Given the description of an element on the screen output the (x, y) to click on. 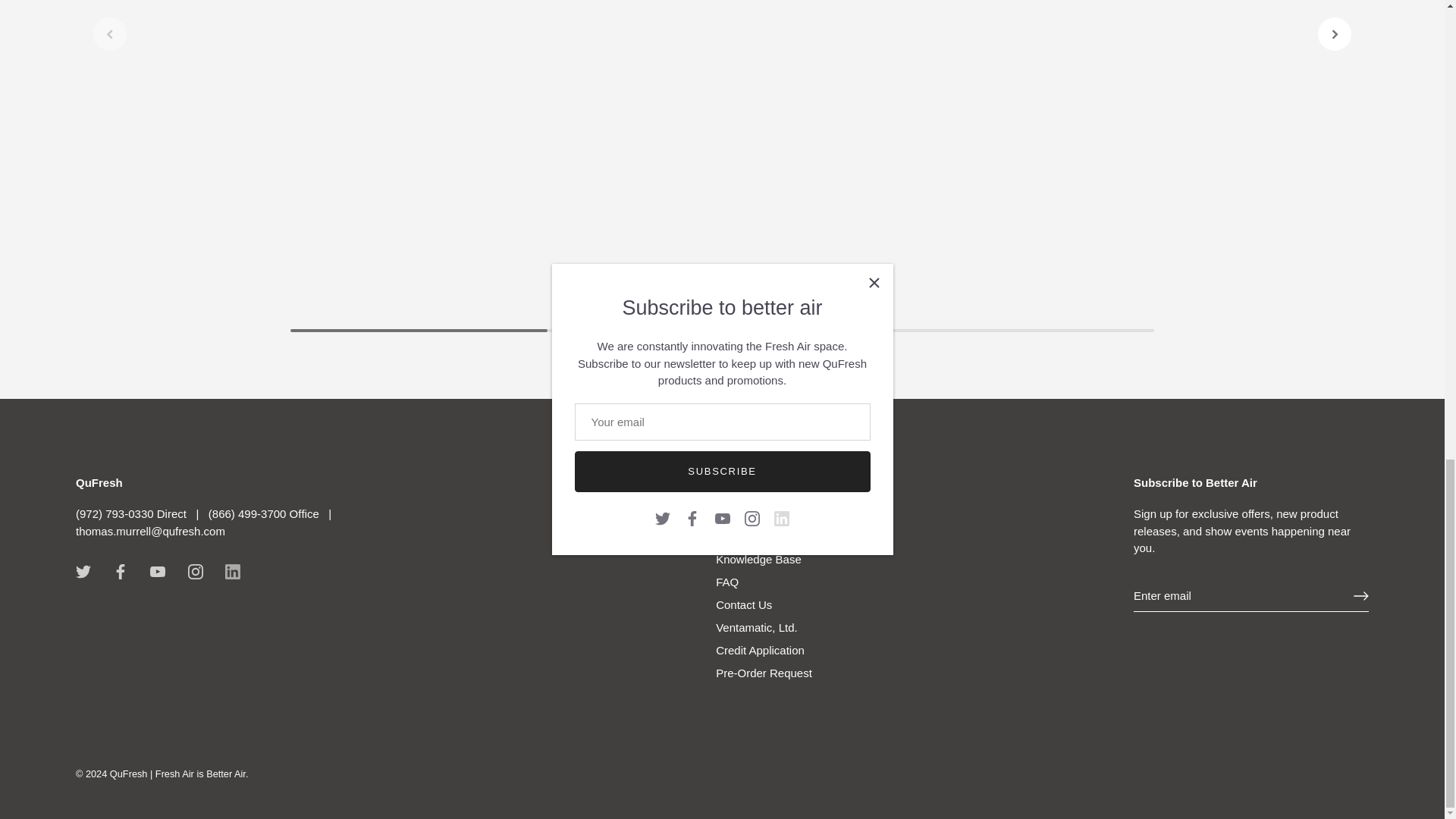
RIGHT ARROW LONG (1361, 595)
tel:9707930330 (133, 513)
Twitter (82, 571)
Instagram (195, 571)
Youtube (157, 571)
tel:8664993700 (263, 513)
